Given the description of an element on the screen output the (x, y) to click on. 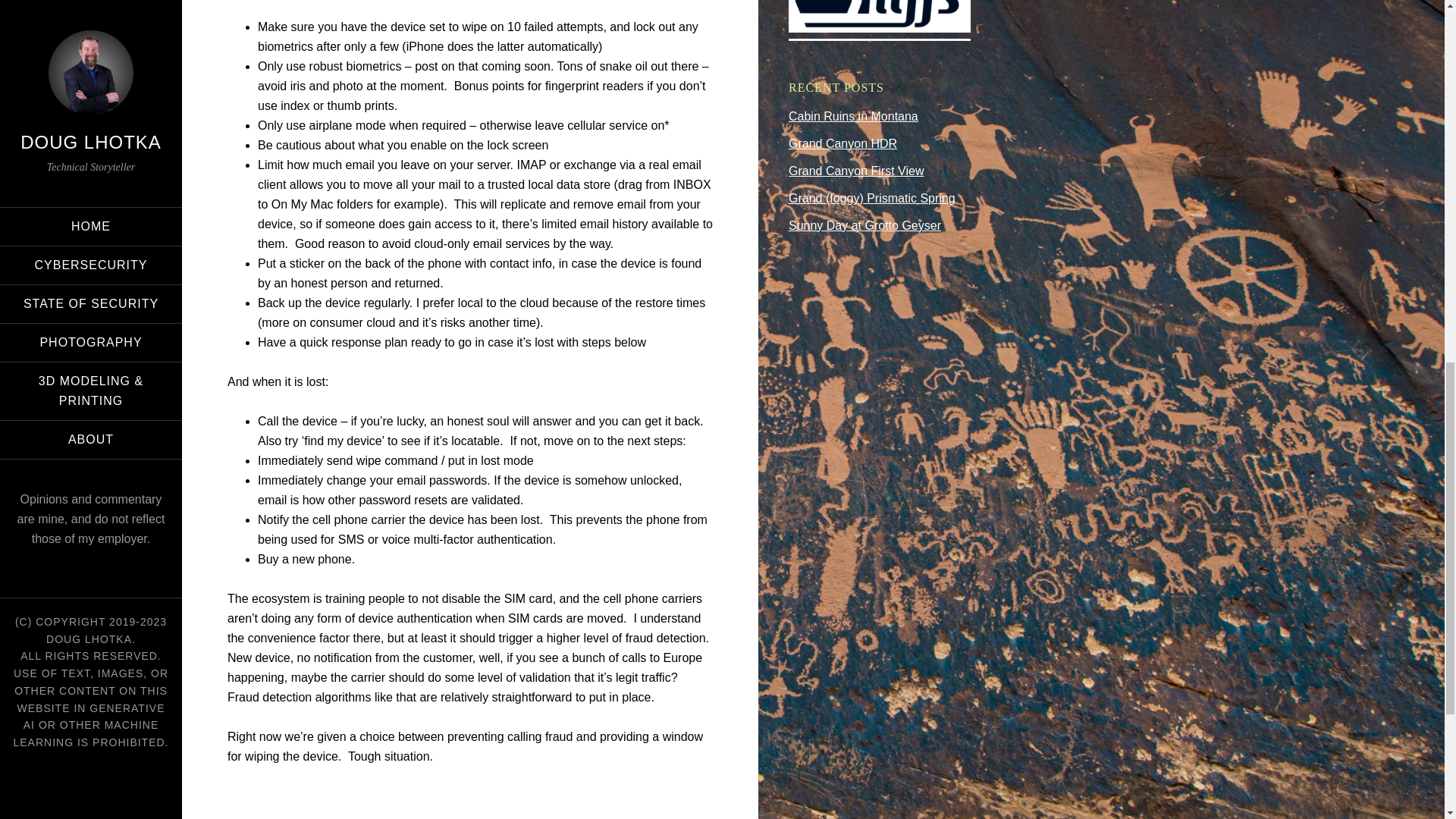
Cabin Ruins in Montana (853, 115)
Grand Canyon HDR (842, 143)
Grand Canyon First View (856, 170)
Sunny Day at Grotto Geyser (864, 225)
